Given the description of an element on the screen output the (x, y) to click on. 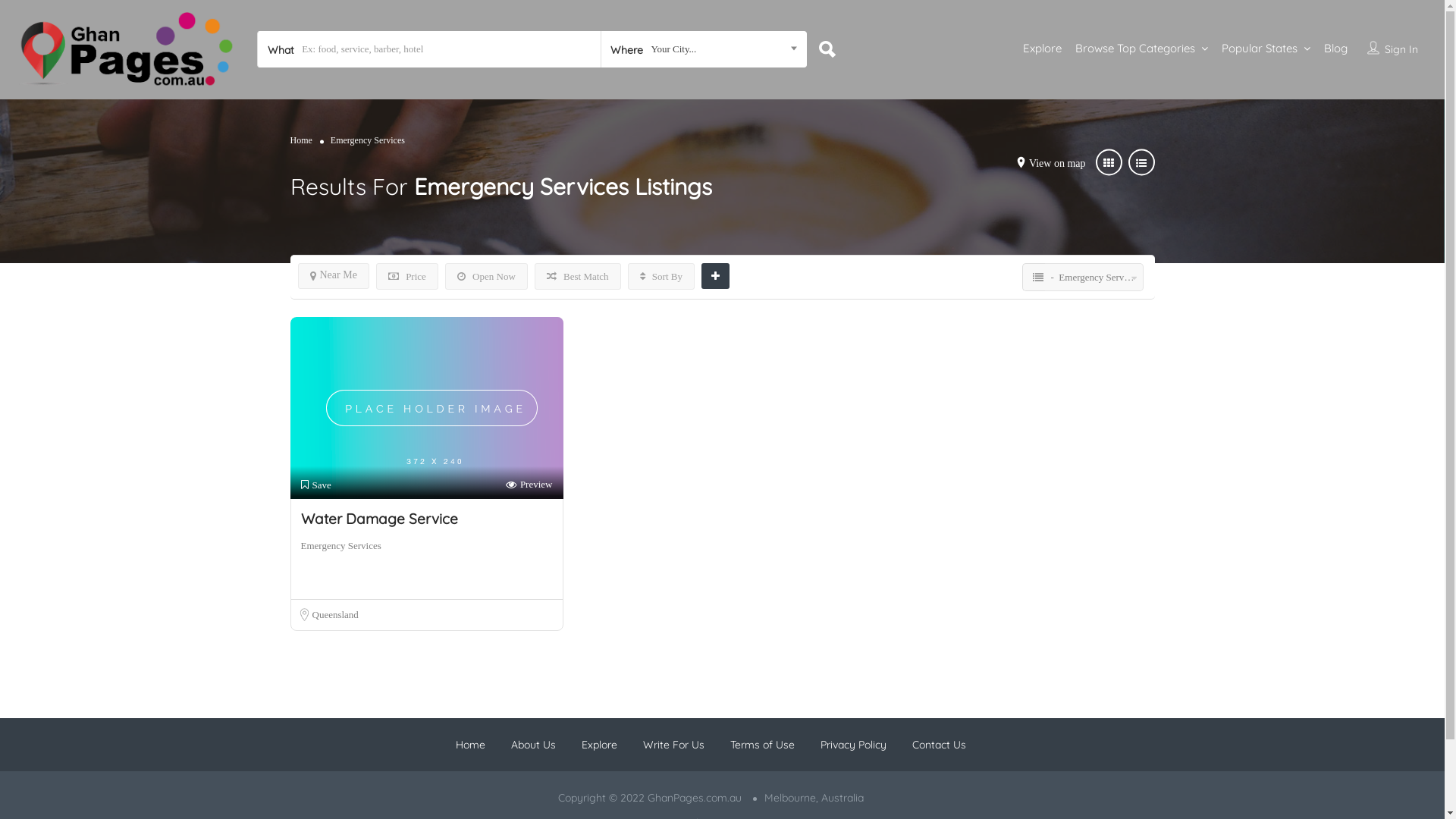
Water Damage Service Element type: text (378, 518)
Terms of Use Element type: text (762, 744)
Blog Element type: text (1335, 47)
Save Element type: text (315, 485)
Contact Us Element type: text (939, 744)
Preview Element type: text (528, 484)
Home Element type: text (300, 139)
Browse Top Categories Element type: text (1135, 47)
Queensland Element type: text (335, 614)
Privacy Policy Element type: text (853, 744)
-  Emergency Services Element type: text (1093, 277)
Write For Us Element type: text (673, 744)
Open Now Element type: text (486, 276)
Explore Element type: text (1041, 47)
Home Element type: text (470, 744)
Popular States Element type: text (1259, 47)
Near Me Element type: text (332, 275)
Sort By Element type: text (660, 276)
Price Element type: text (407, 276)
Emergency Services Element type: text (340, 545)
Explore Element type: text (599, 744)
Best Match Element type: text (577, 276)
About Us Element type: text (533, 744)
Sign In Element type: text (1401, 49)
View on map Element type: text (1057, 162)
